Given the description of an element on the screen output the (x, y) to click on. 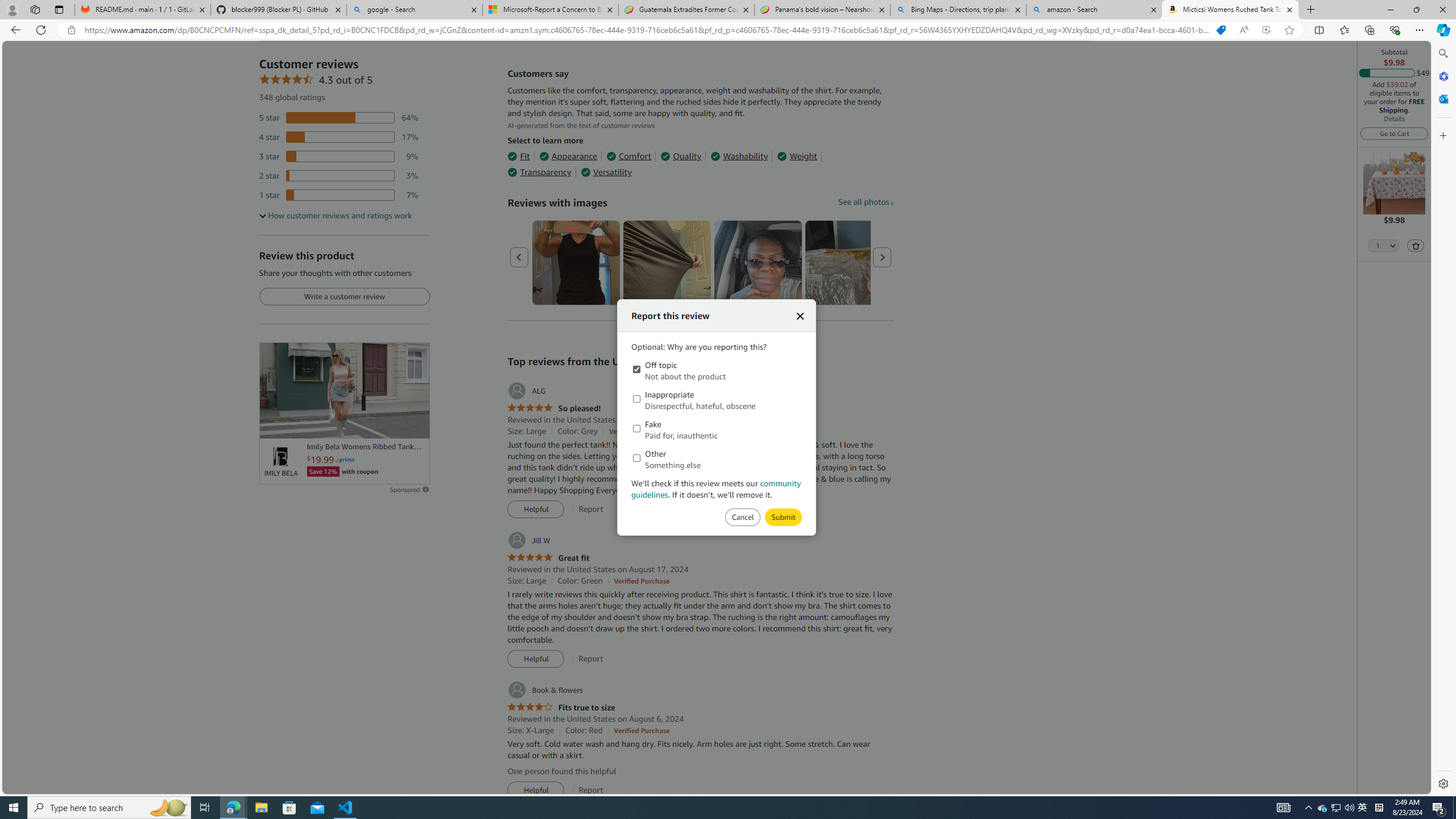
amazon - Search (1094, 9)
Sponsored ad (344, 390)
Customer Image (758, 262)
